Given the description of an element on the screen output the (x, y) to click on. 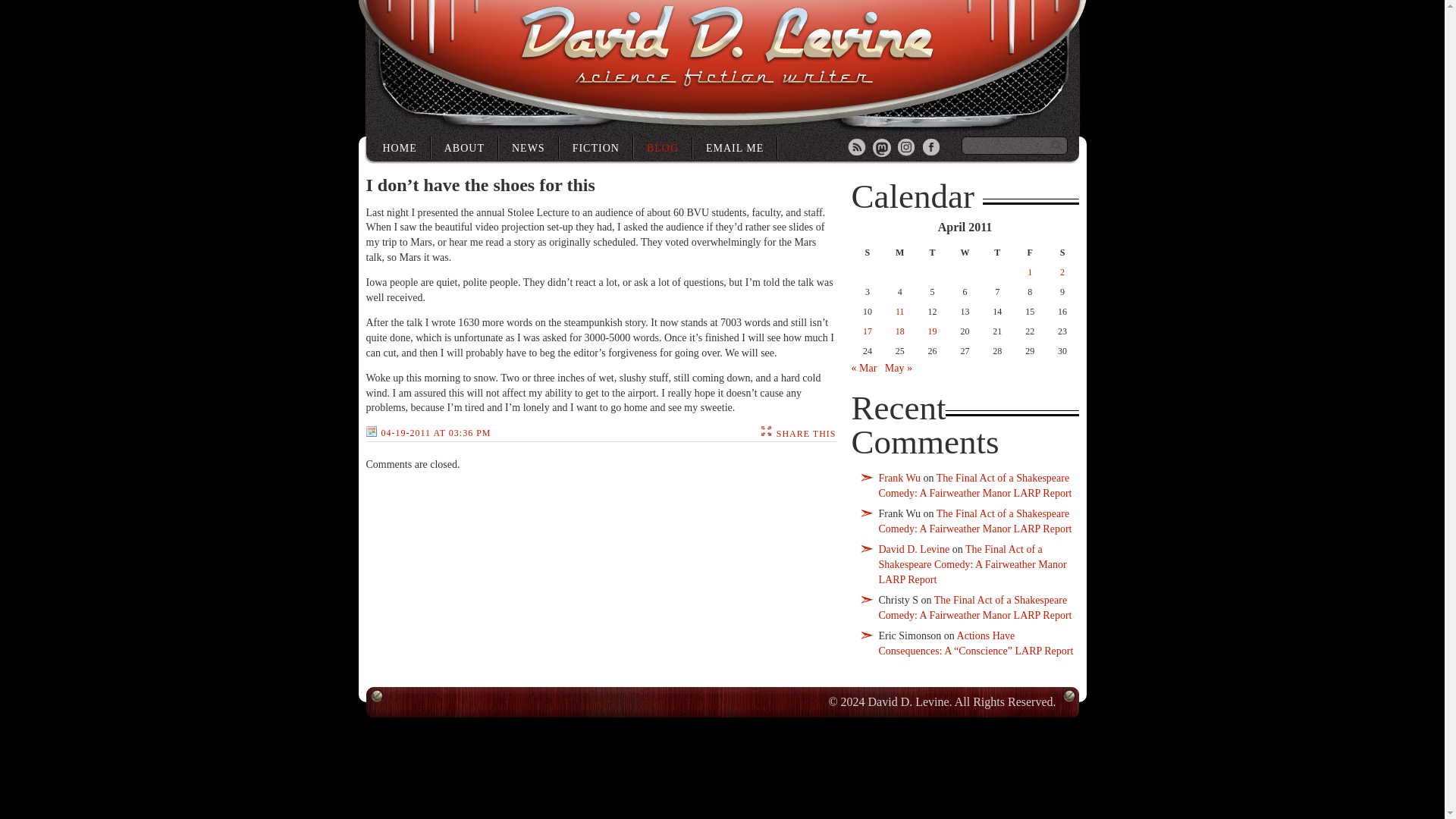
FICTION (596, 147)
ABOUT (463, 147)
Friday (1029, 252)
RSS (857, 148)
NEWS (529, 147)
HOME (399, 147)
Facebook (931, 148)
Search (1056, 145)
SHARE THIS (805, 433)
Frank Wu (898, 478)
Monday (899, 252)
04-19-2011 AT 03:36 PM (427, 432)
BLOG (663, 147)
